Given the description of an element on the screen output the (x, y) to click on. 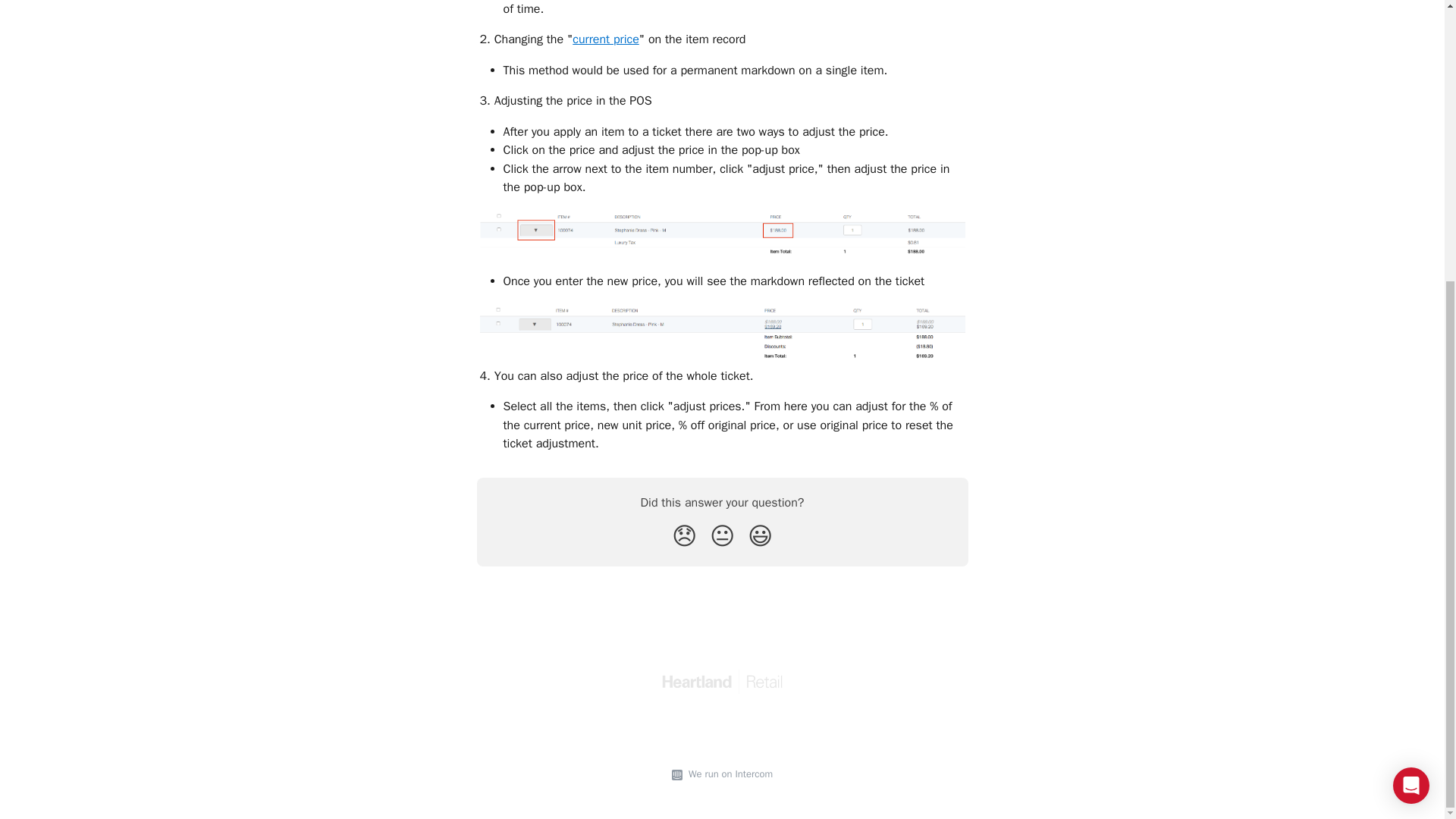
We run on Intercom (727, 774)
current price (605, 38)
